Given the description of an element on the screen output the (x, y) to click on. 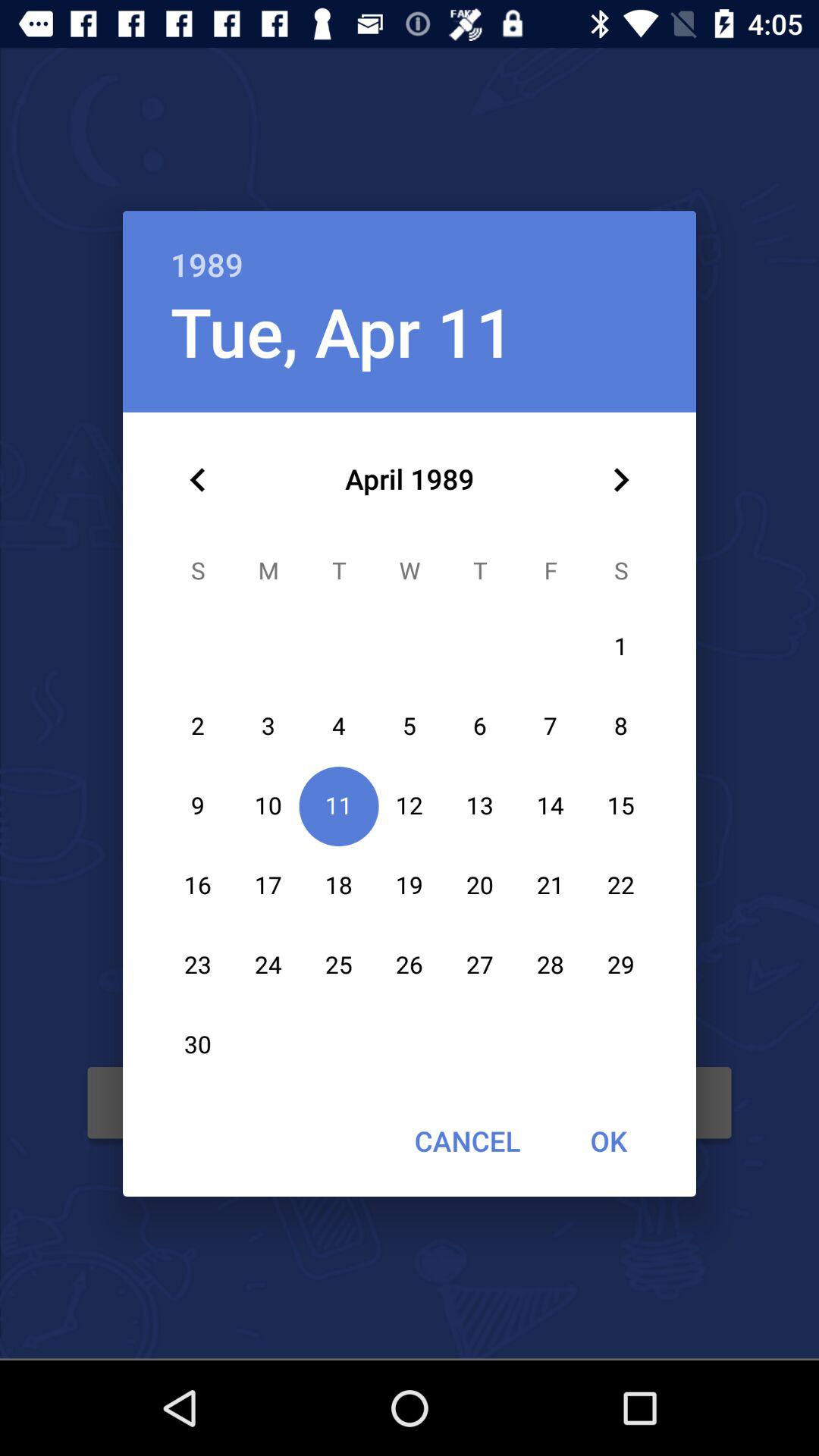
open item at the bottom right corner (608, 1140)
